Given the description of an element on the screen output the (x, y) to click on. 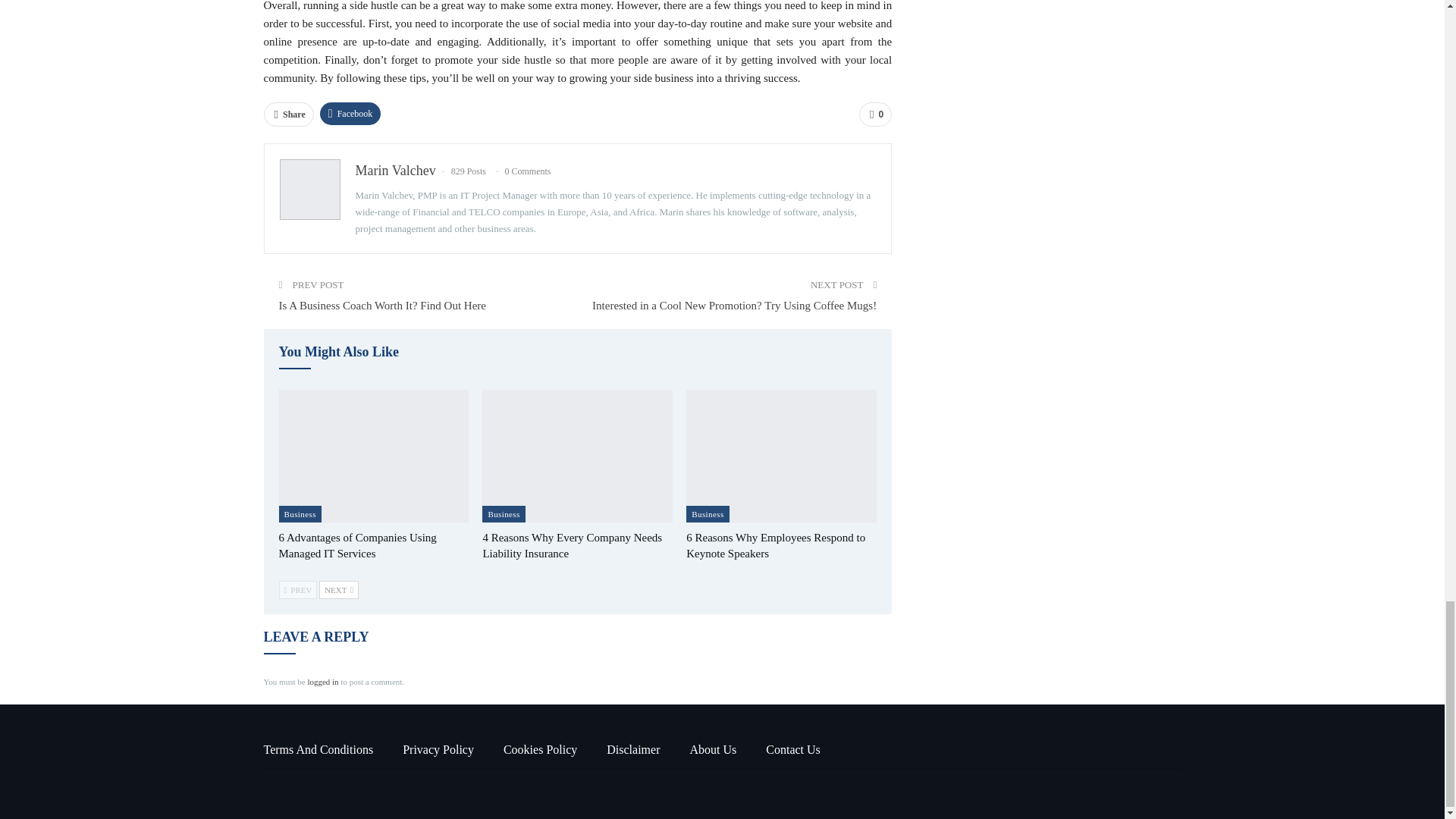
Is A Business Coach Worth It? Find Out Here (382, 305)
0 (875, 114)
Marin Valchev (395, 170)
Facebook (350, 113)
